Given the description of an element on the screen output the (x, y) to click on. 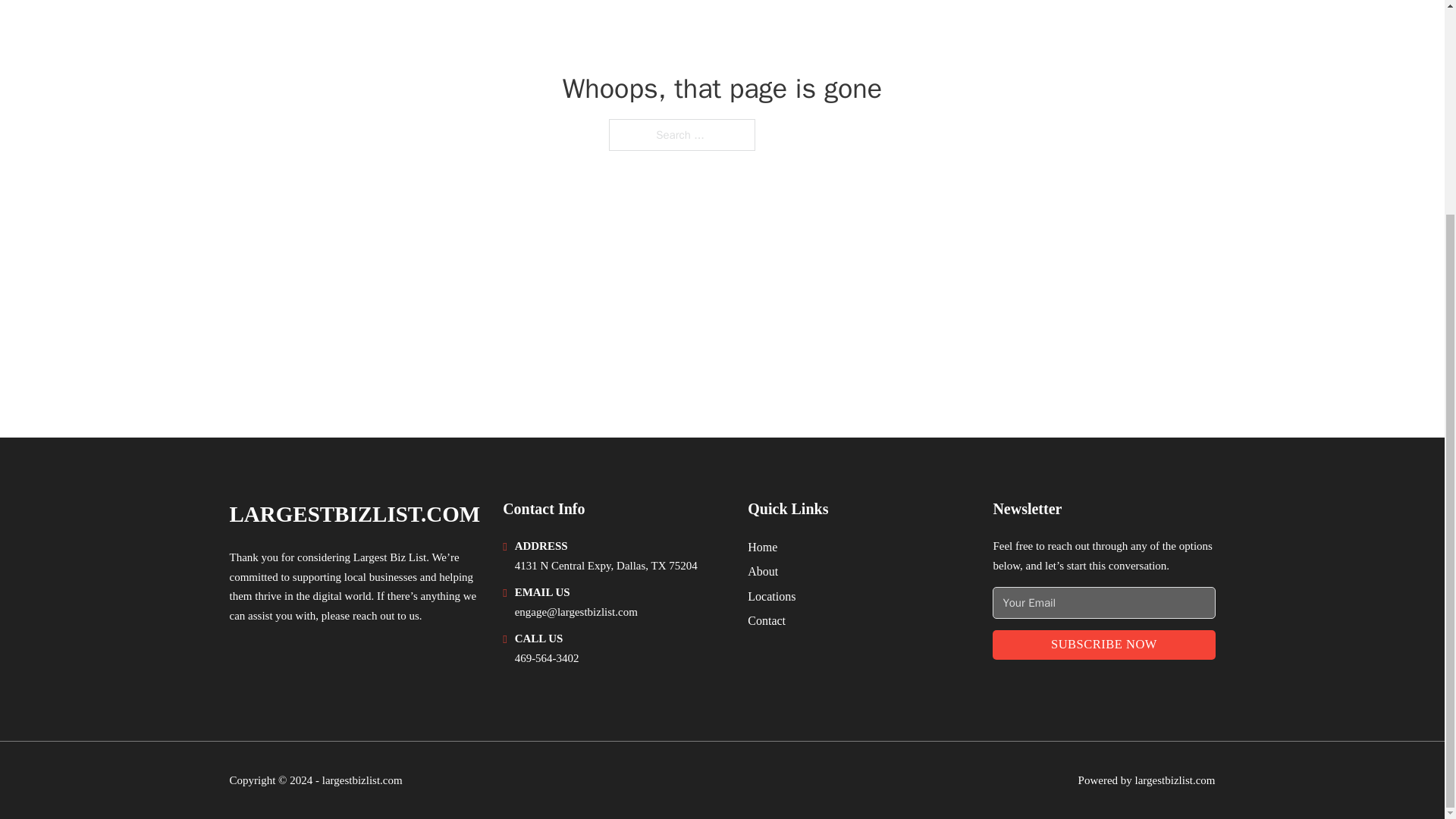
About (762, 571)
Locations (771, 596)
LARGESTBIZLIST.COM (354, 514)
Contact (767, 620)
469-564-3402 (547, 657)
Home (762, 547)
SUBSCRIBE NOW (1103, 644)
